Given the description of an element on the screen output the (x, y) to click on. 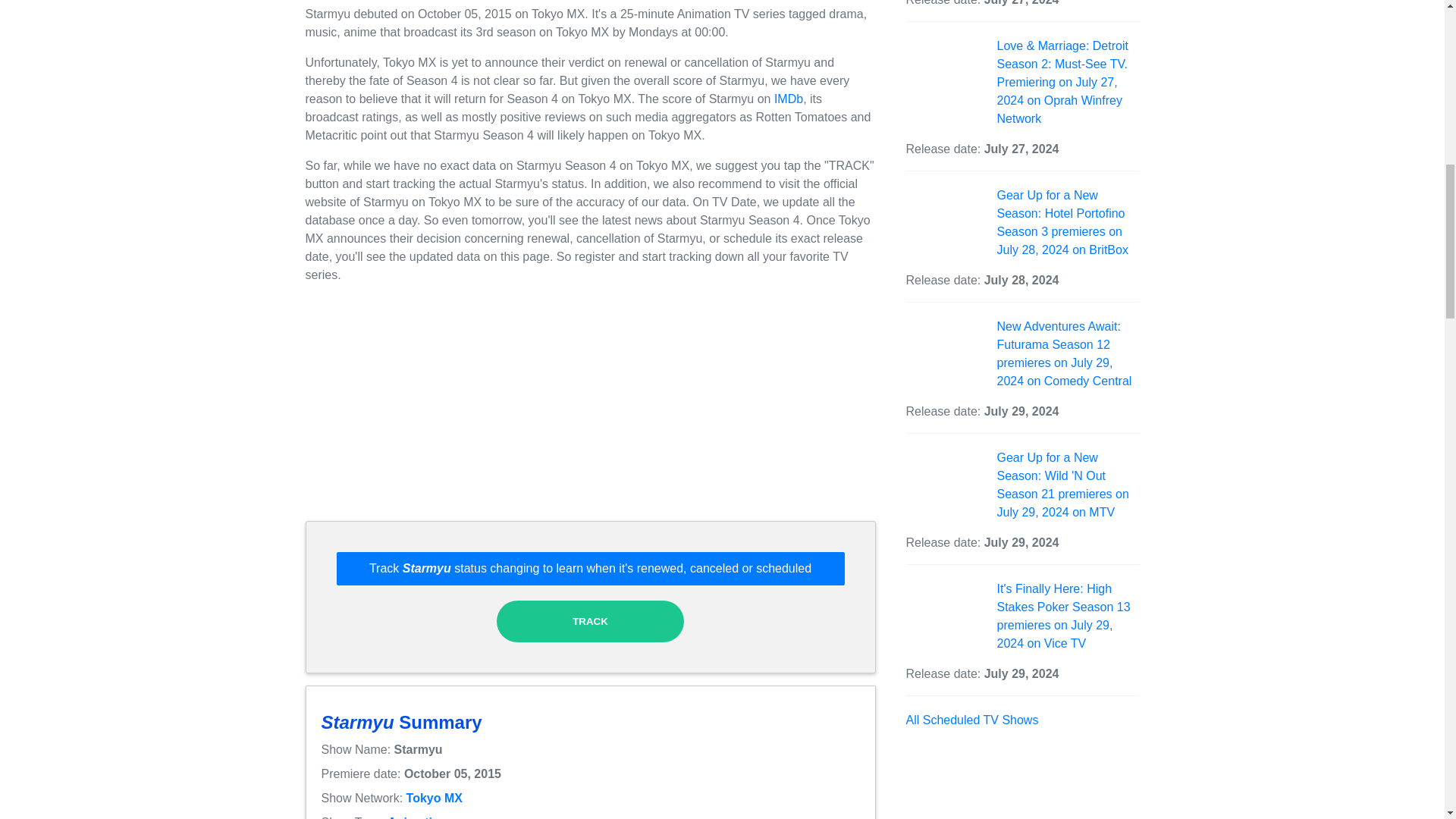
TRACK (590, 621)
IMDb (788, 98)
Animation (416, 817)
Tokyo MX (434, 797)
